Given the description of an element on the screen output the (x, y) to click on. 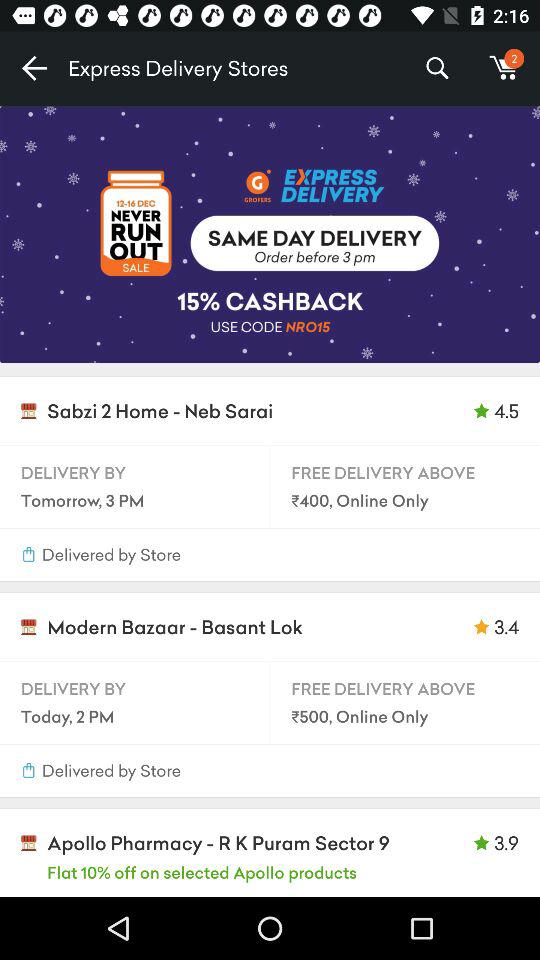
open icon to the left of the express delivery stores (33, 67)
